Given the description of an element on the screen output the (x, y) to click on. 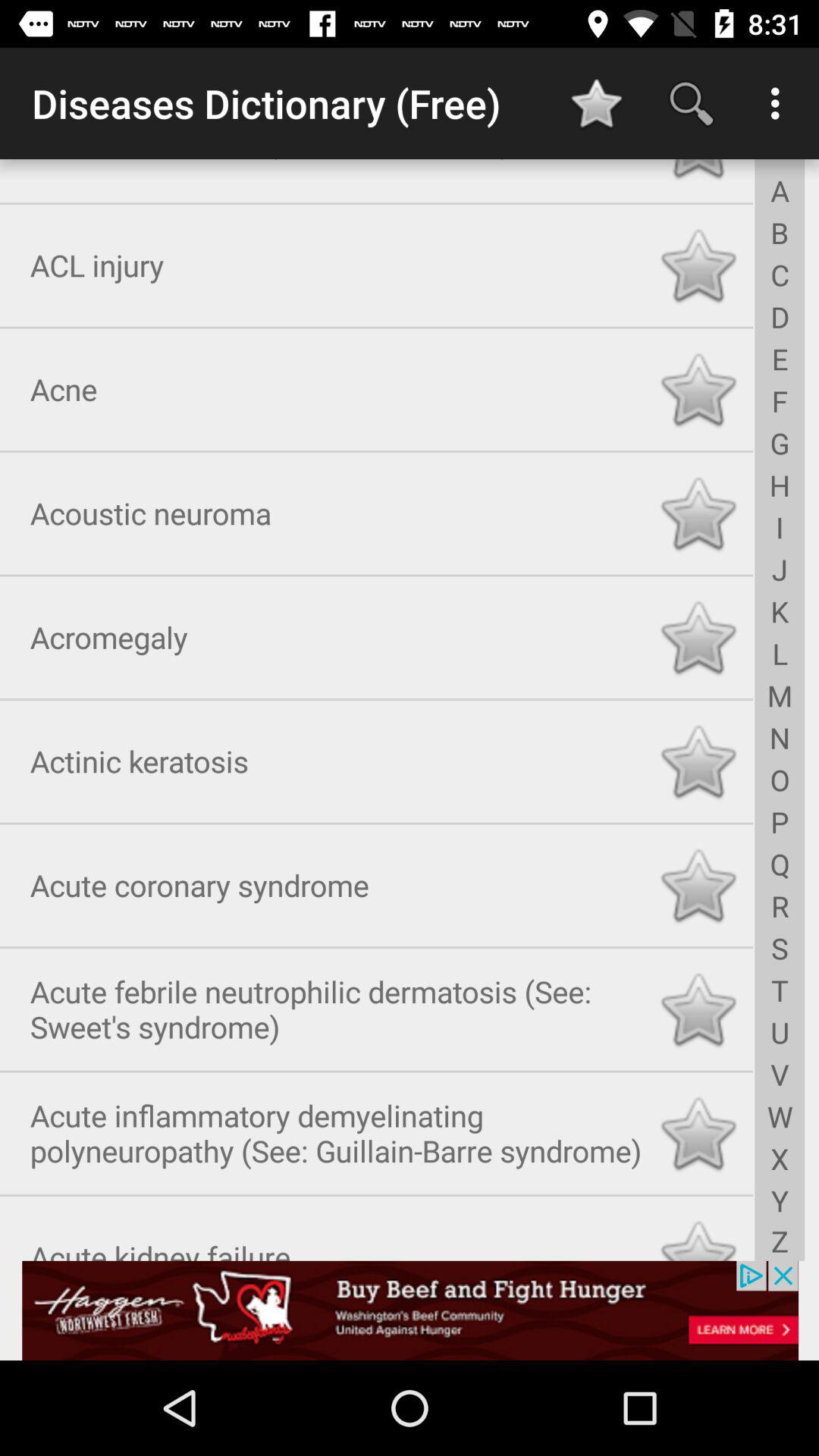
like (697, 262)
